Given the description of an element on the screen output the (x, y) to click on. 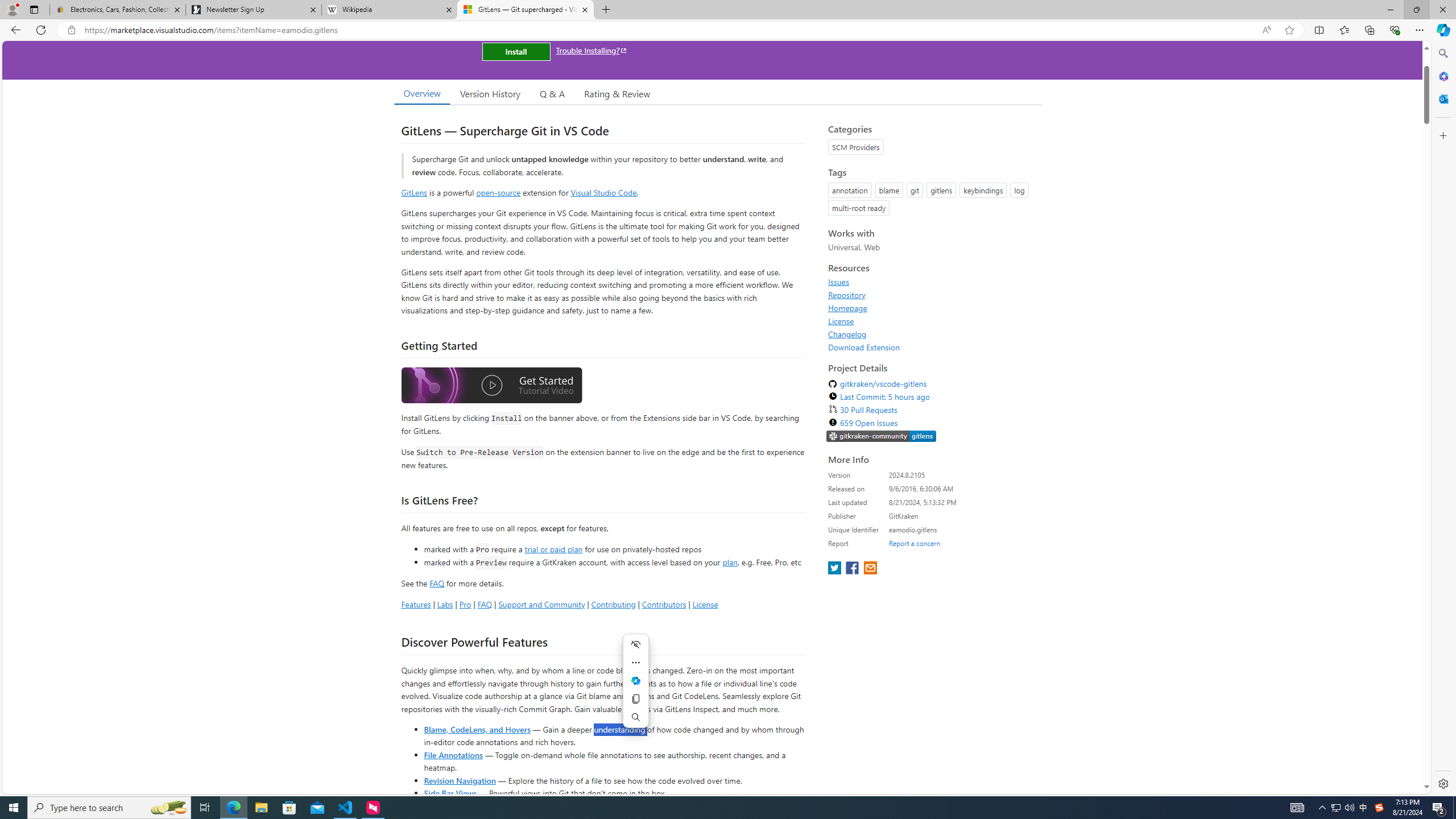
open-source (498, 192)
Ask Copilot (635, 680)
Repository (931, 294)
trial or paid plan (553, 548)
Labs (444, 603)
Report a concern (914, 542)
